Given the description of an element on the screen output the (x, y) to click on. 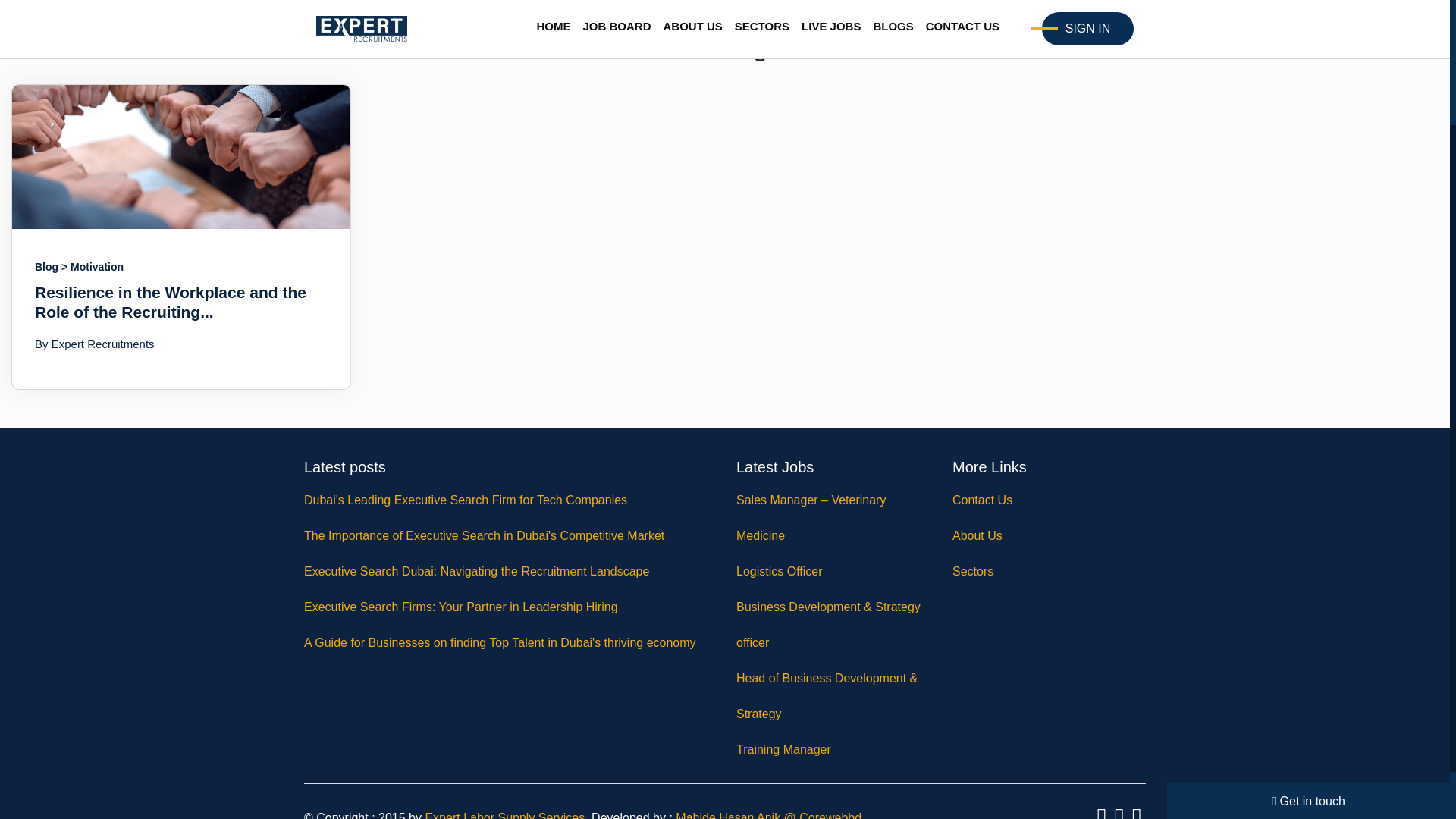
Sectors (1048, 570)
Executive Search Dubai: Navigating the Recruitment Landscape (508, 570)
Executive Search Firms: Your Partner in Leadership Hiring (508, 606)
Dubai's Leading Executive Search Firm for Tech Companies (508, 499)
About Us (1048, 535)
Logistics Officer (833, 570)
Training Manager (833, 749)
